Given the description of an element on the screen output the (x, y) to click on. 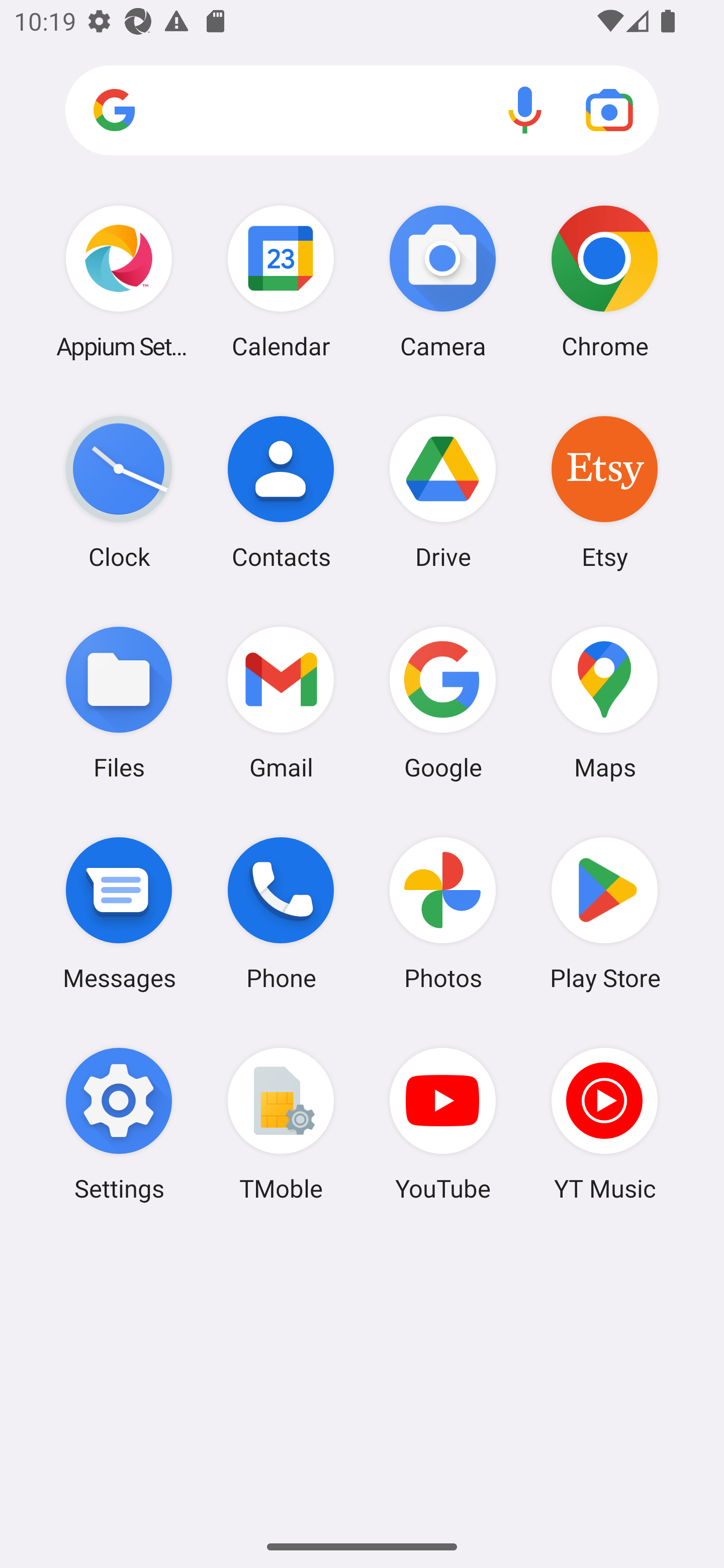
Search apps, web and more (361, 110)
Voice search (524, 109)
Google Lens (608, 109)
Appium Settings (118, 281)
Calendar (280, 281)
Camera (443, 281)
Chrome (604, 281)
Clock (118, 492)
Contacts (280, 492)
Drive (443, 492)
Etsy (604, 492)
Files (118, 702)
Gmail (280, 702)
Google (443, 702)
Maps (604, 702)
Messages (118, 913)
Phone (280, 913)
Photos (443, 913)
Play Store (604, 913)
Settings (118, 1124)
TMoble (280, 1124)
YouTube (443, 1124)
YT Music (604, 1124)
